Given the description of an element on the screen output the (x, y) to click on. 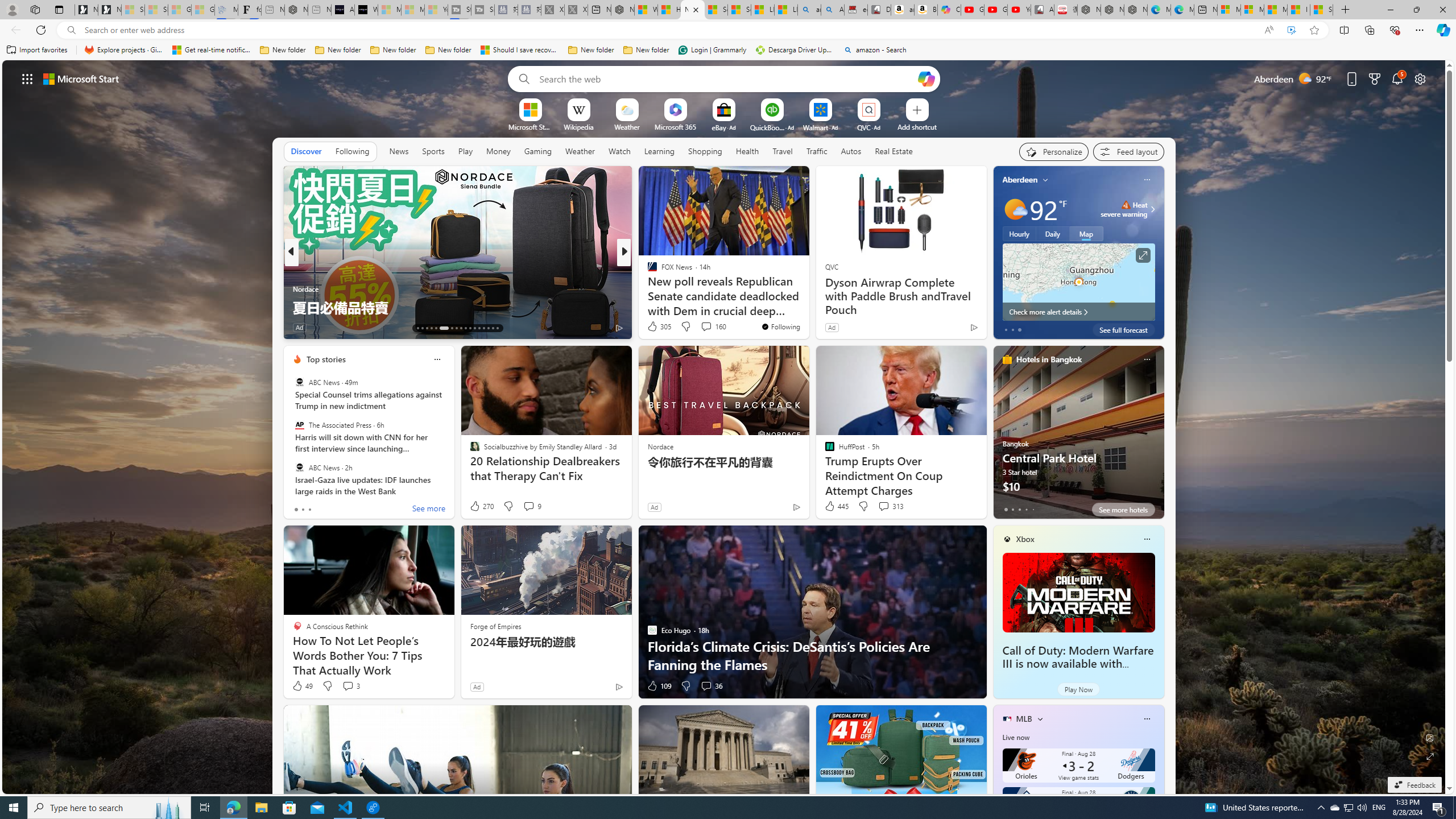
Traffic (816, 151)
Discover (306, 151)
See more hotels (1123, 509)
AutomationID: tab-13 (417, 328)
Mostly sunny (1014, 208)
AutomationID: tab-40 (483, 328)
Nordace Comino Totepack (1089, 9)
View comments 313 Comment (883, 505)
My location (1045, 179)
